Given the description of an element on the screen output the (x, y) to click on. 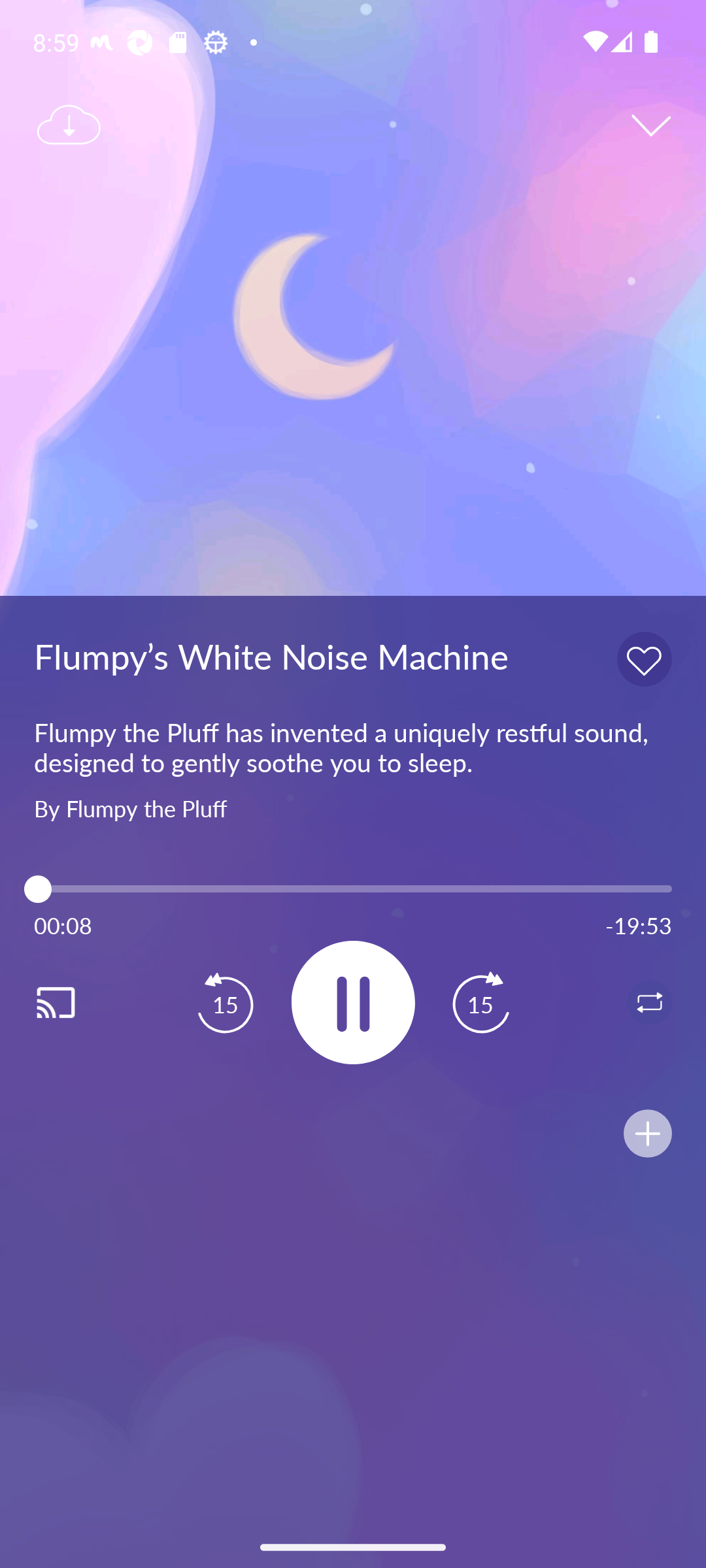
8.0 (352, 888)
Cast. Disconnected (76, 1002)
